Given the description of an element on the screen output the (x, y) to click on. 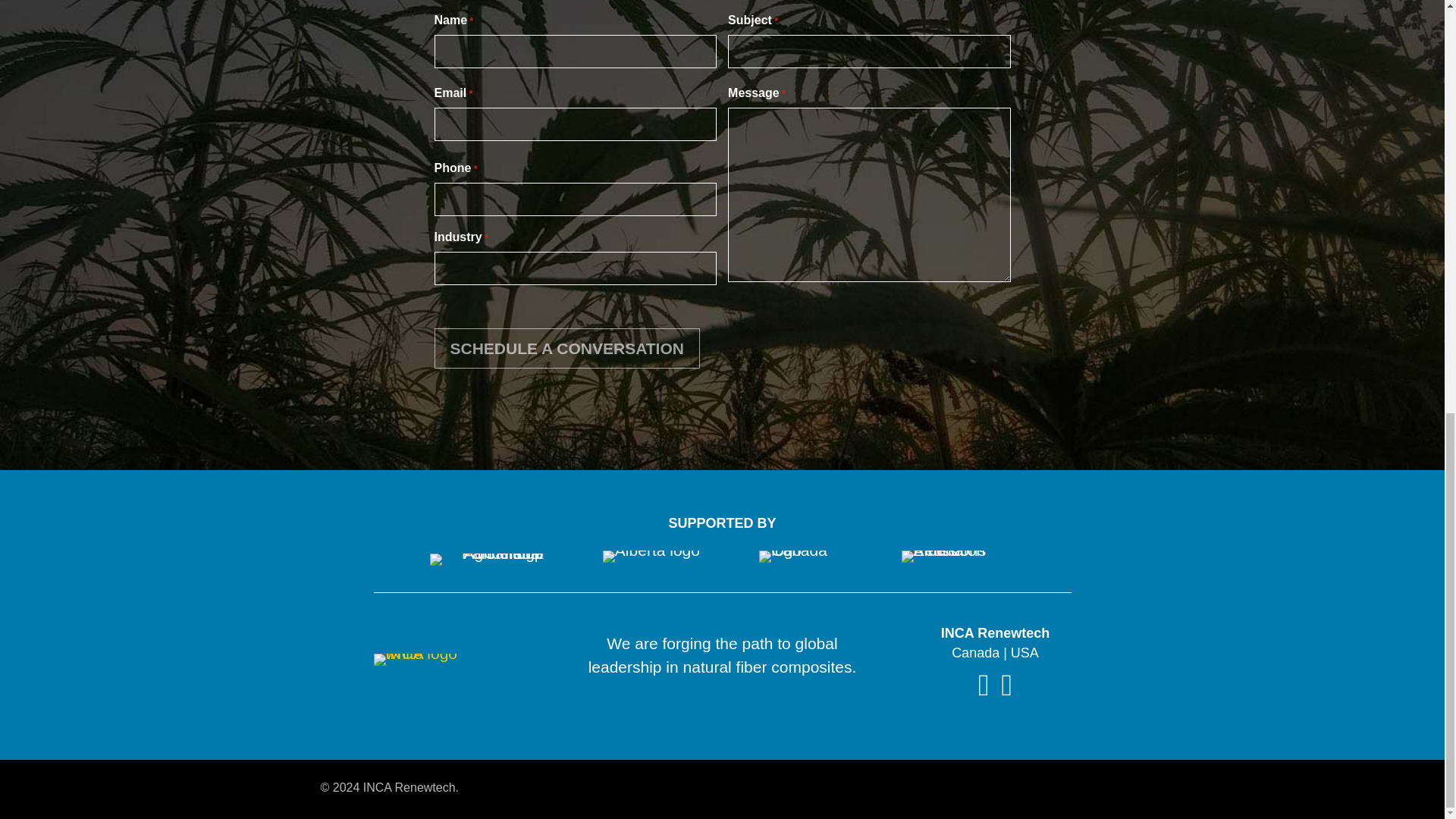
Canadia Agricultural Partnership logo (486, 559)
Schedule a Conversation (565, 348)
Alberta logo (651, 556)
Canada logo (804, 556)
Schedule a Conversation (565, 348)
ERA-white (946, 556)
